Given the description of an element on the screen output the (x, y) to click on. 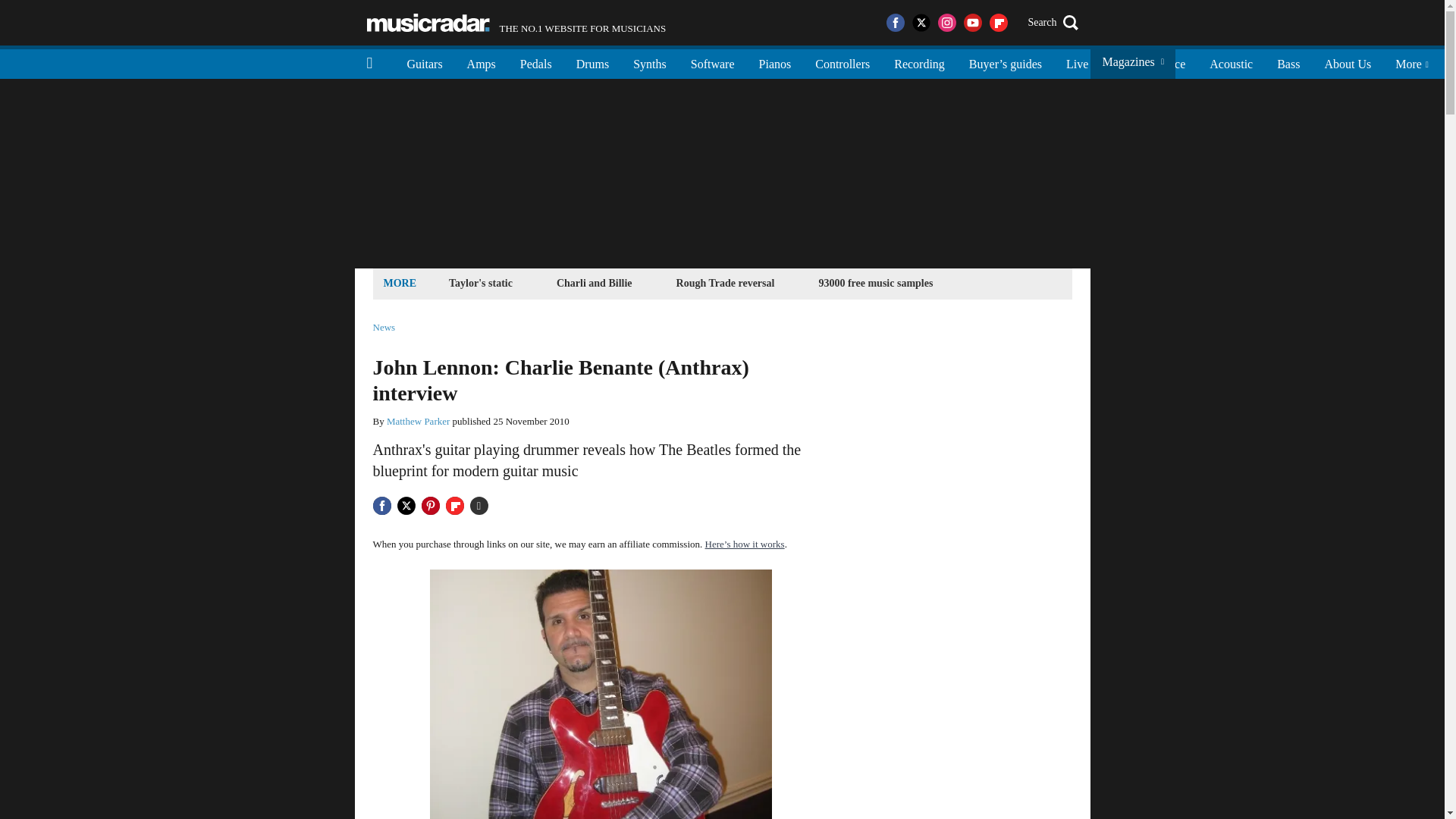
Taylor's static (481, 282)
Controllers (842, 61)
Guitars (424, 61)
DJ (1119, 61)
Amps (481, 61)
Pedals (536, 61)
Matthew Parker (418, 420)
Live (1077, 61)
Advice (1167, 61)
Recording (919, 61)
